Given the description of an element on the screen output the (x, y) to click on. 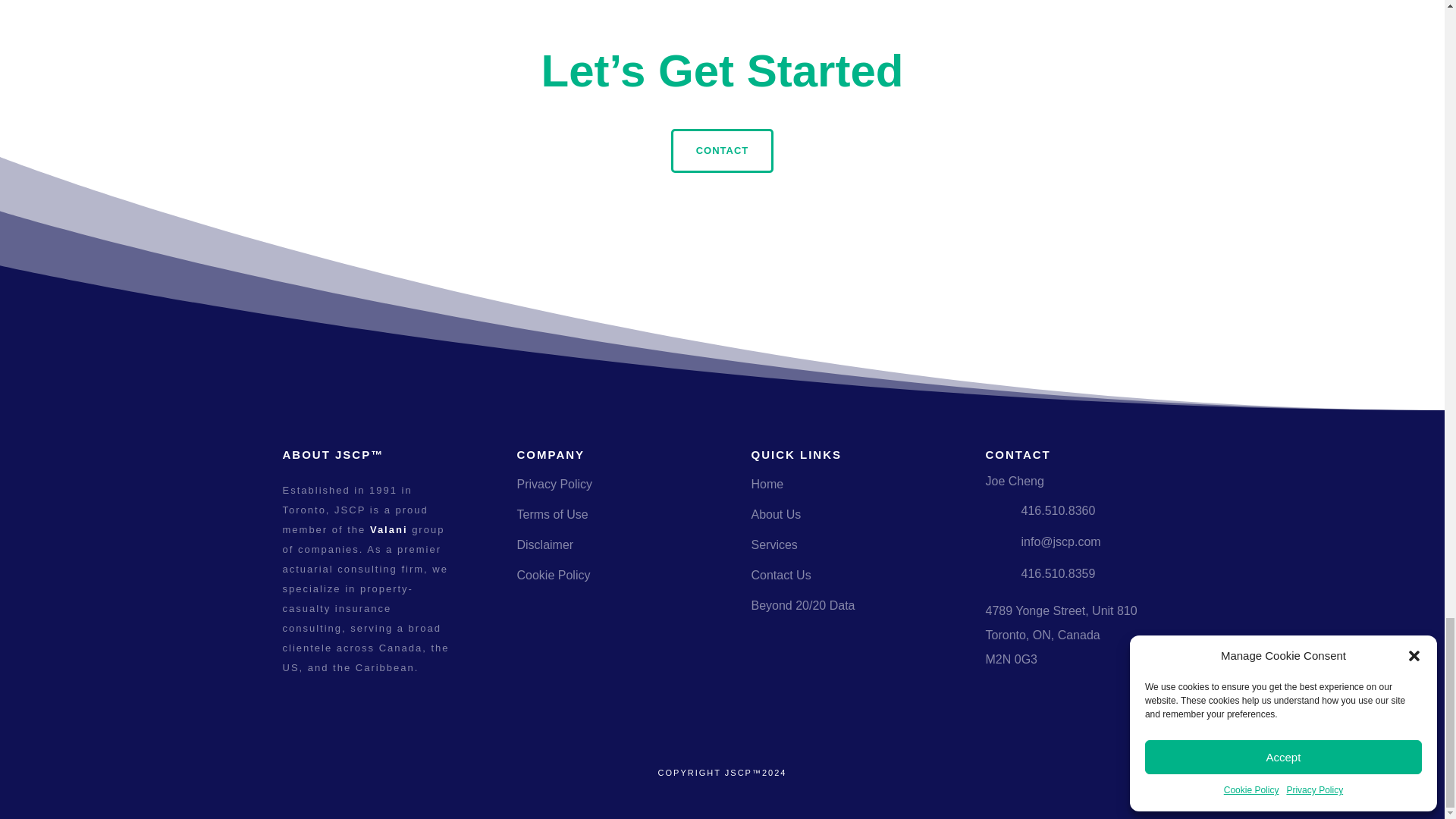
CONTACT (722, 150)
Privacy Policy (554, 483)
Terms of Use (552, 513)
Home (767, 483)
Valani (388, 529)
Disclaimer (544, 544)
Cookie Policy (553, 574)
